Given the description of an element on the screen output the (x, y) to click on. 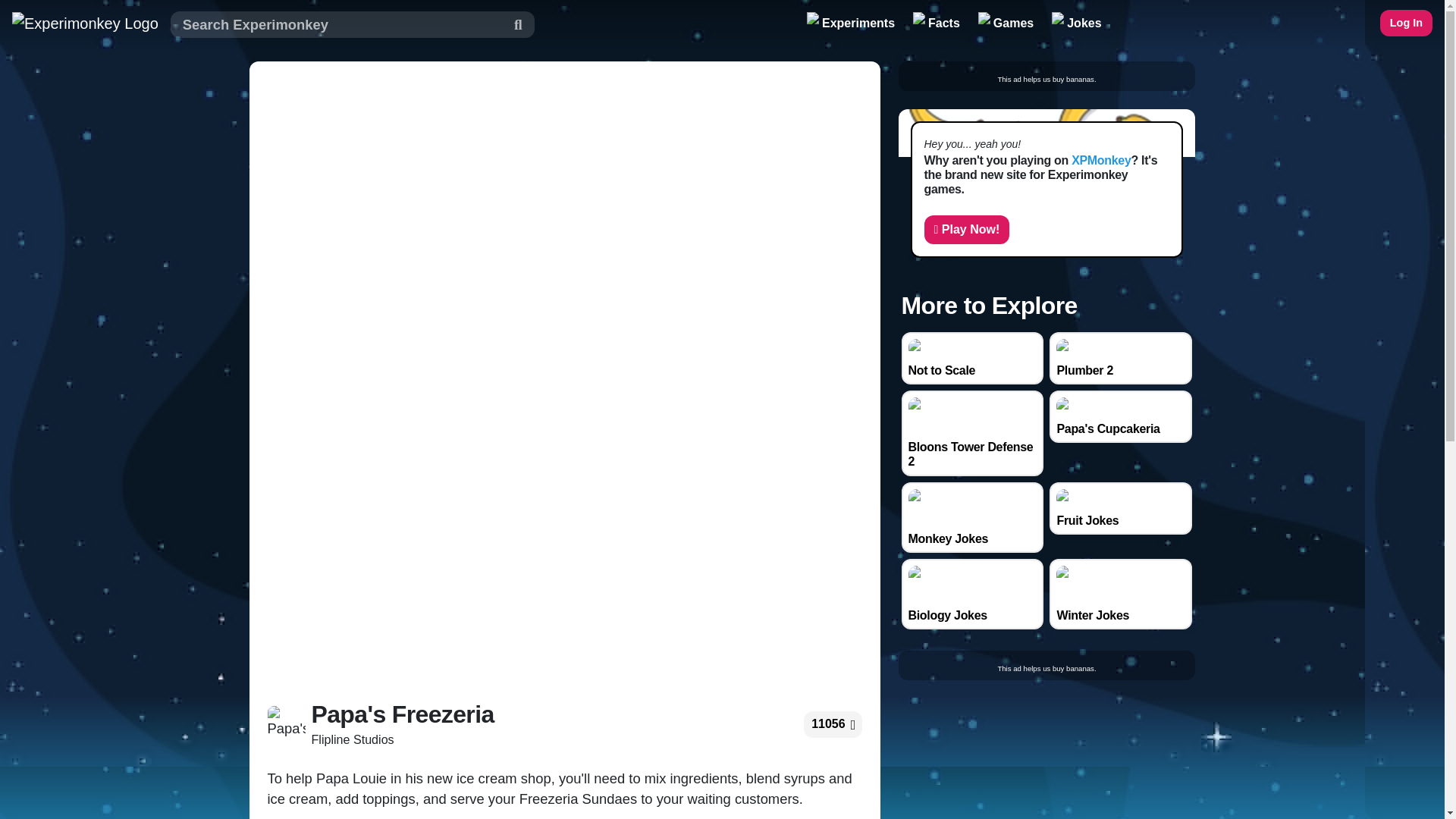
Jokes (1075, 22)
Experimonkey Homepage (84, 23)
Log in (1406, 22)
Play on XPMonkey! (966, 229)
Log In (1406, 22)
Experiments (850, 22)
11056 (828, 724)
Facts (936, 22)
Find something banan-tastic! (352, 24)
Games (1005, 22)
